Given the description of an element on the screen output the (x, y) to click on. 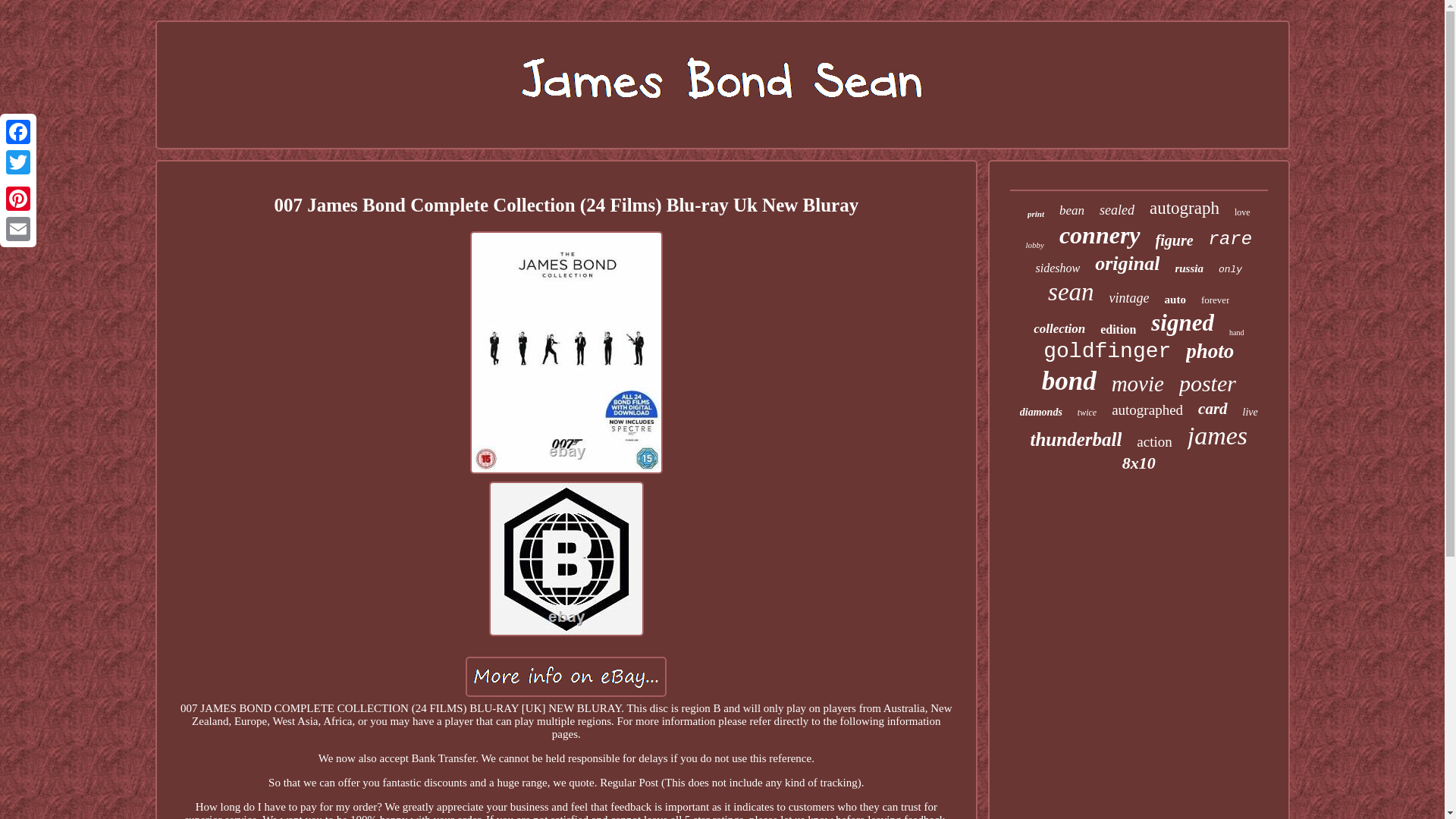
vintage (1129, 298)
edition (1117, 329)
goldfinger (1106, 351)
collection (1058, 328)
original (1126, 263)
photo (1209, 351)
sideshow (1057, 268)
movie (1137, 383)
Twitter (17, 162)
figure (1174, 240)
